Given the description of an element on the screen output the (x, y) to click on. 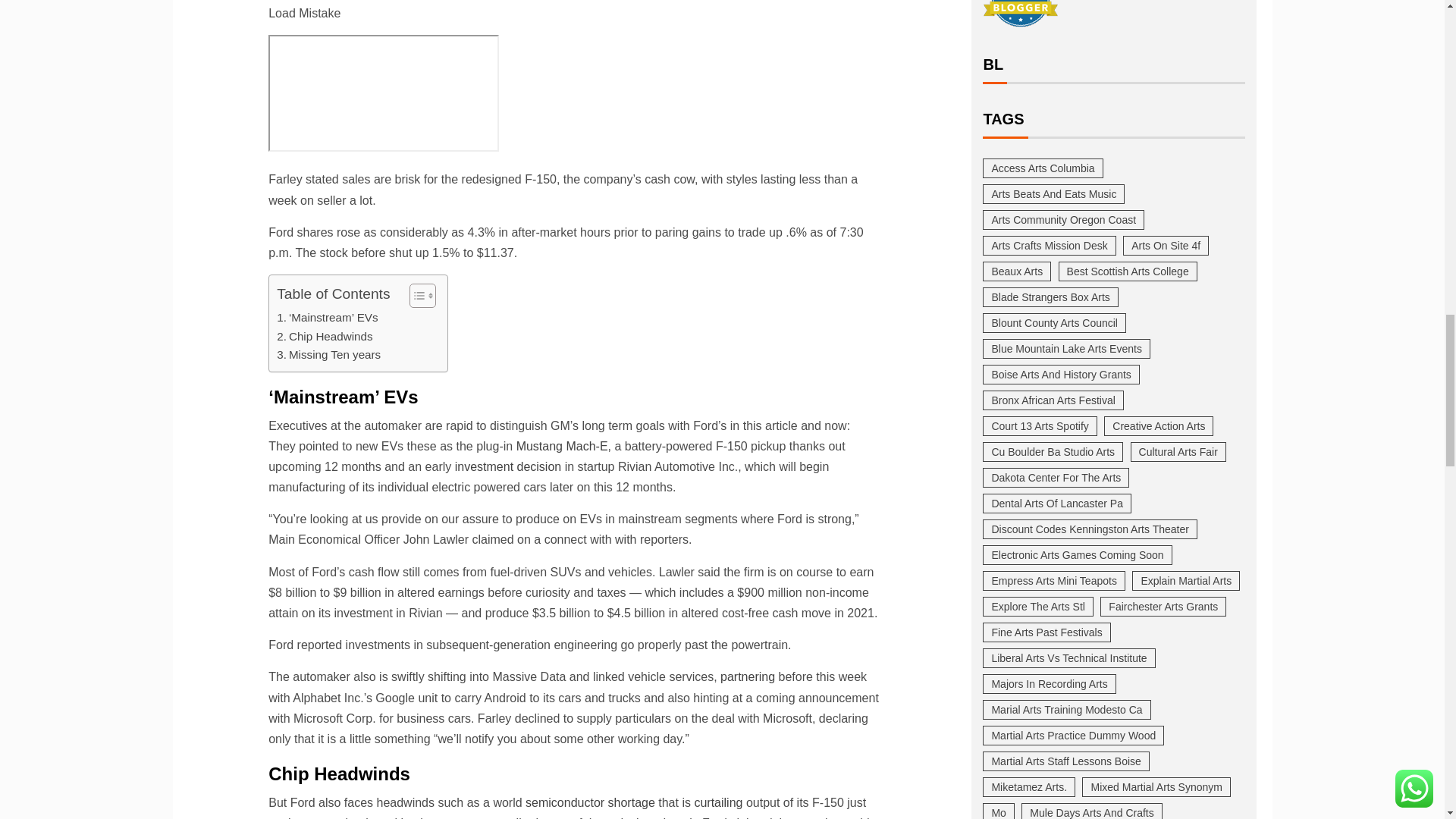
Missing Ten years (328, 354)
Chip Headwinds (324, 336)
Chip Headwinds (324, 336)
Missing Ten years (328, 354)
